Given the description of an element on the screen output the (x, y) to click on. 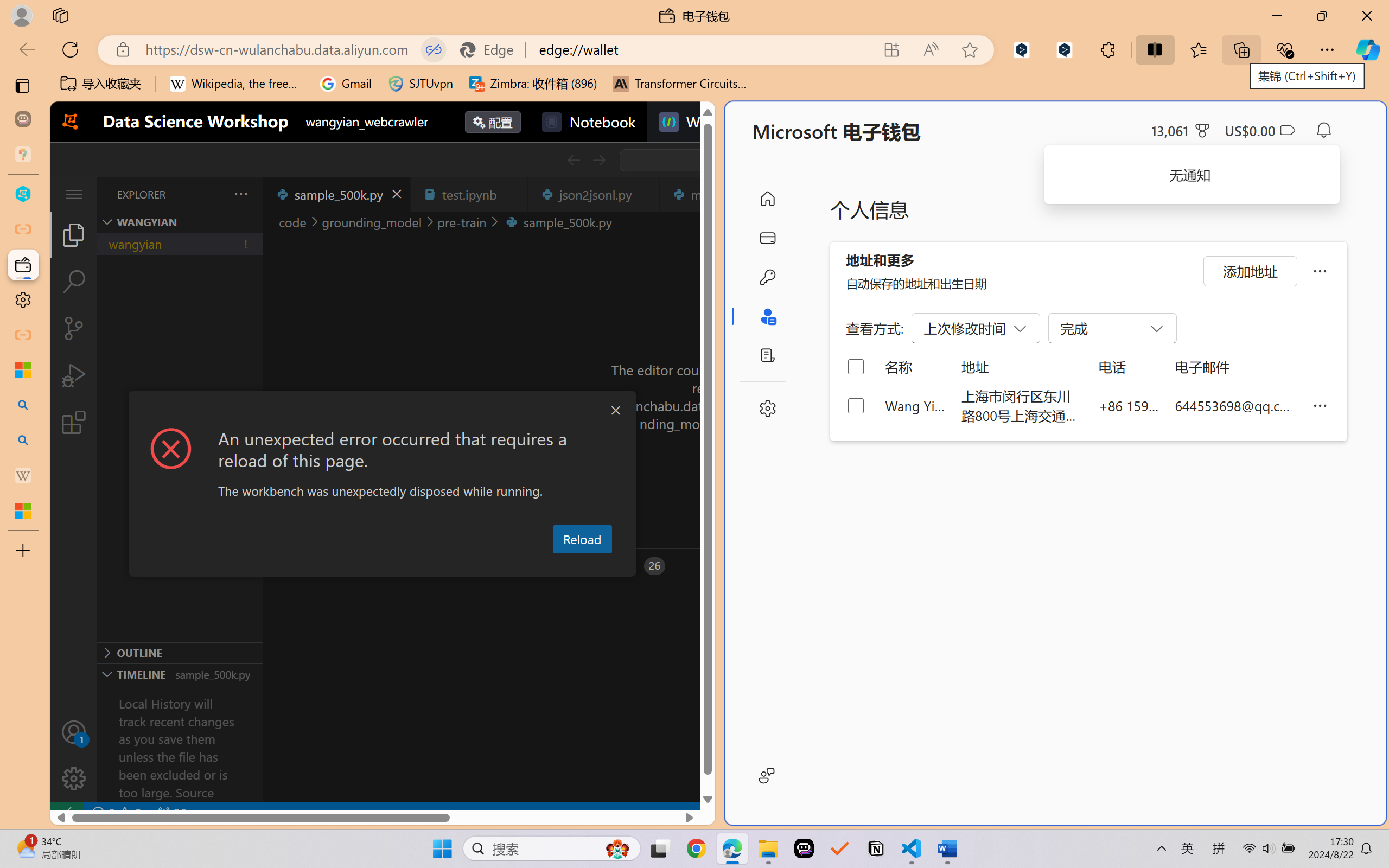
Transformer Circuits Thread (680, 83)
Close (Ctrl+F4) (644, 194)
Ports - 26 forwarded ports (632, 565)
Edge (492, 49)
test.ipynb (468, 194)
Terminal (Ctrl+`) (553, 565)
